Given the description of an element on the screen output the (x, y) to click on. 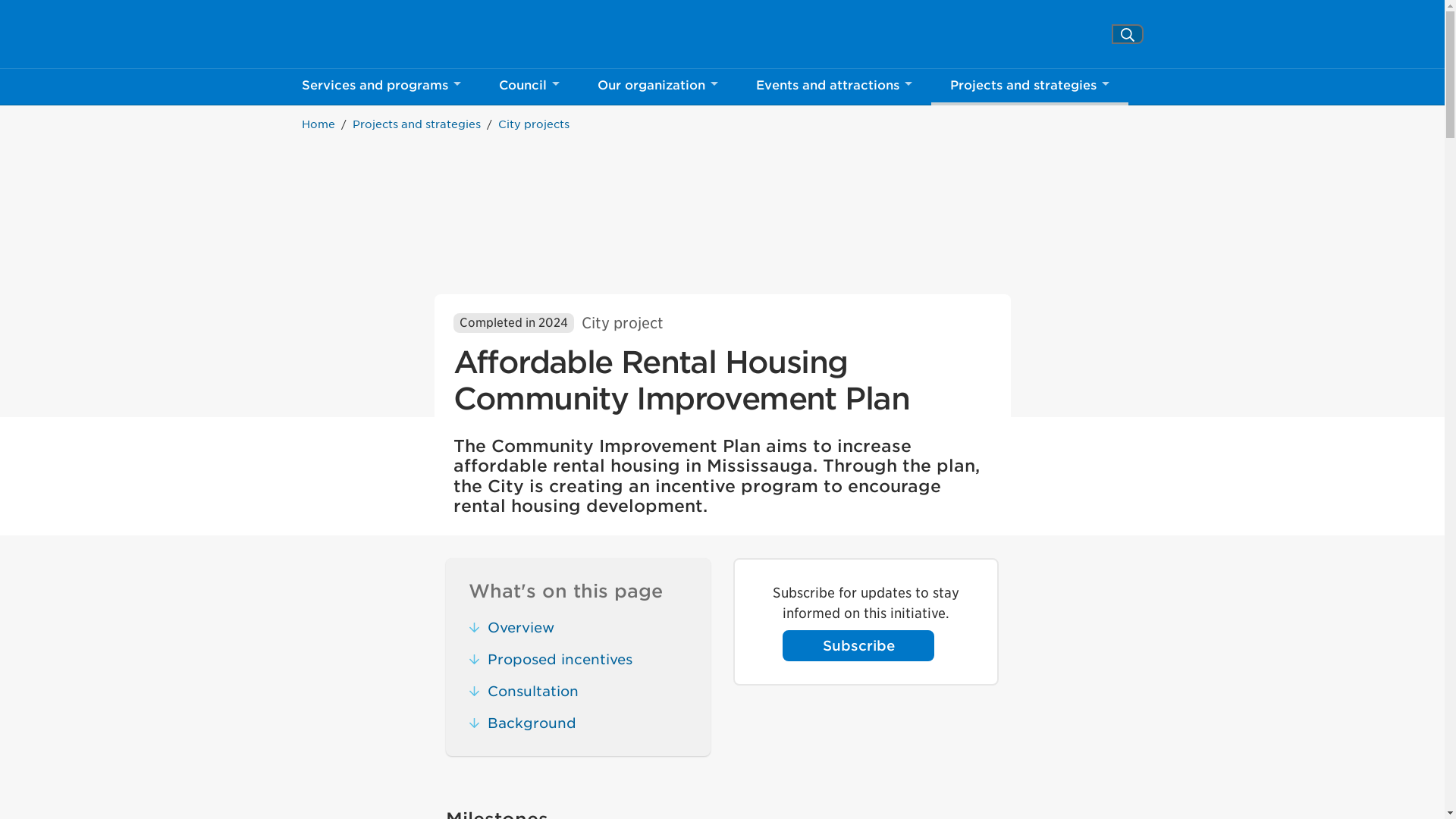
City of Mississauga home (369, 33)
Events and attractions (833, 86)
City of Mississauga Homepage (369, 33)
Our organization (369, 33)
Council (657, 86)
Search (528, 86)
Services and programs (1127, 34)
